Given the description of an element on the screen output the (x, y) to click on. 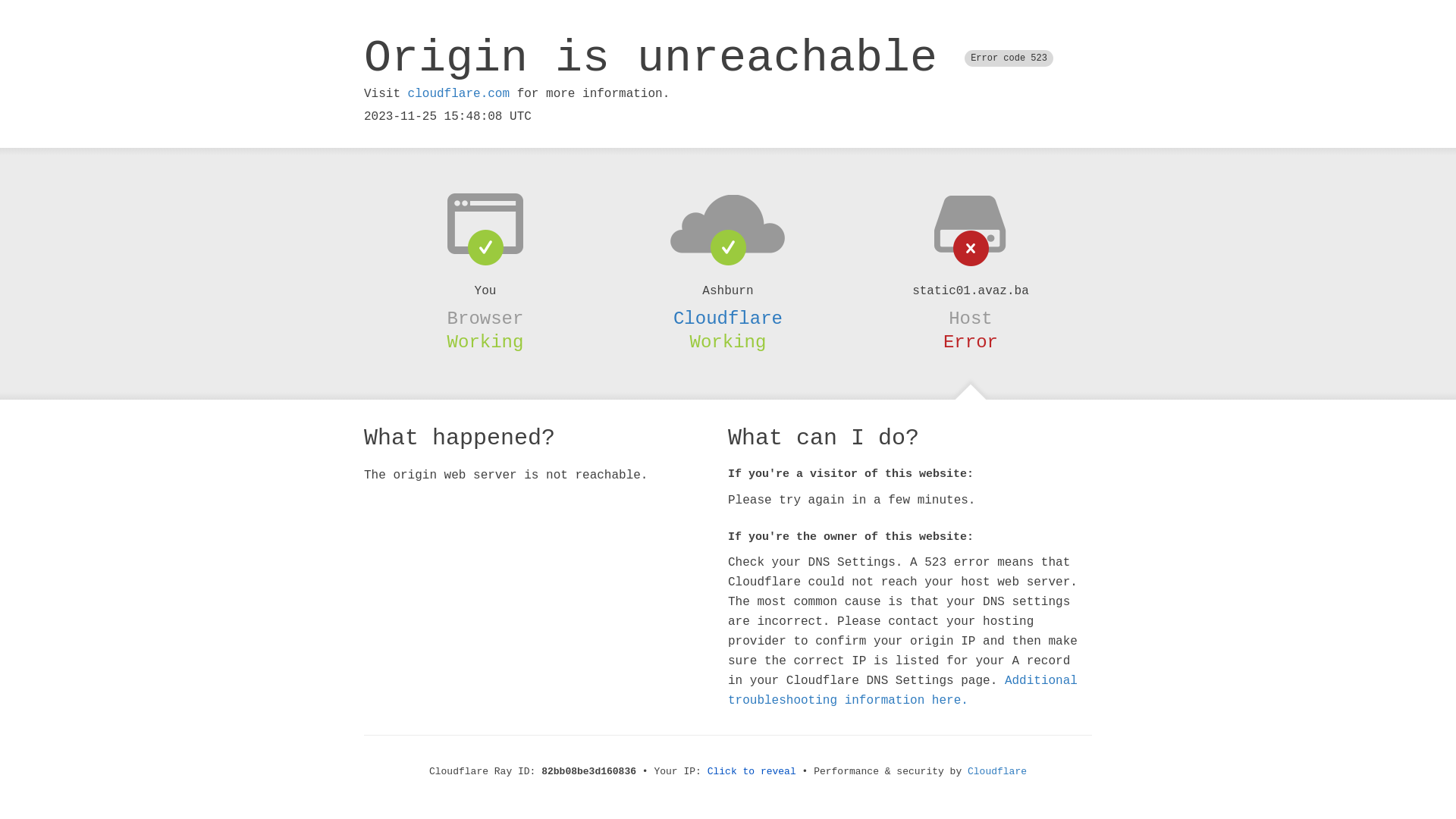
Cloudflare Element type: text (727, 318)
Cloudflare Element type: text (996, 771)
Additional troubleshooting information here. Element type: text (902, 690)
Click to reveal Element type: text (751, 771)
cloudflare.com Element type: text (458, 93)
